Given the description of an element on the screen output the (x, y) to click on. 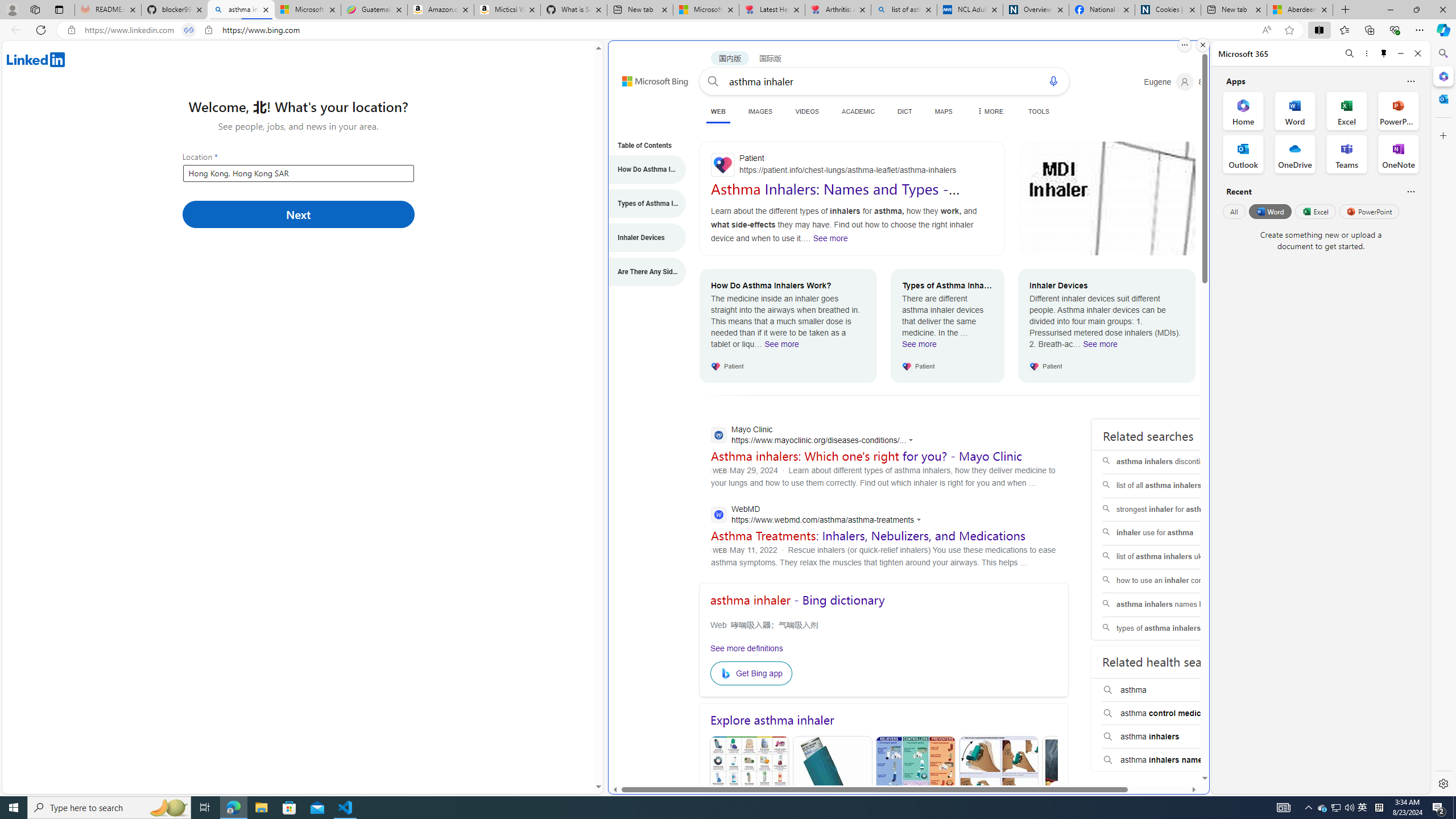
inhaler use for asthma (1174, 533)
MORE (988, 111)
how to use an inhaler correctly (1174, 580)
OneNote Office App (1398, 154)
Tabs in split screen (189, 29)
Excel (1315, 210)
